Given the description of an element on the screen output the (x, y) to click on. 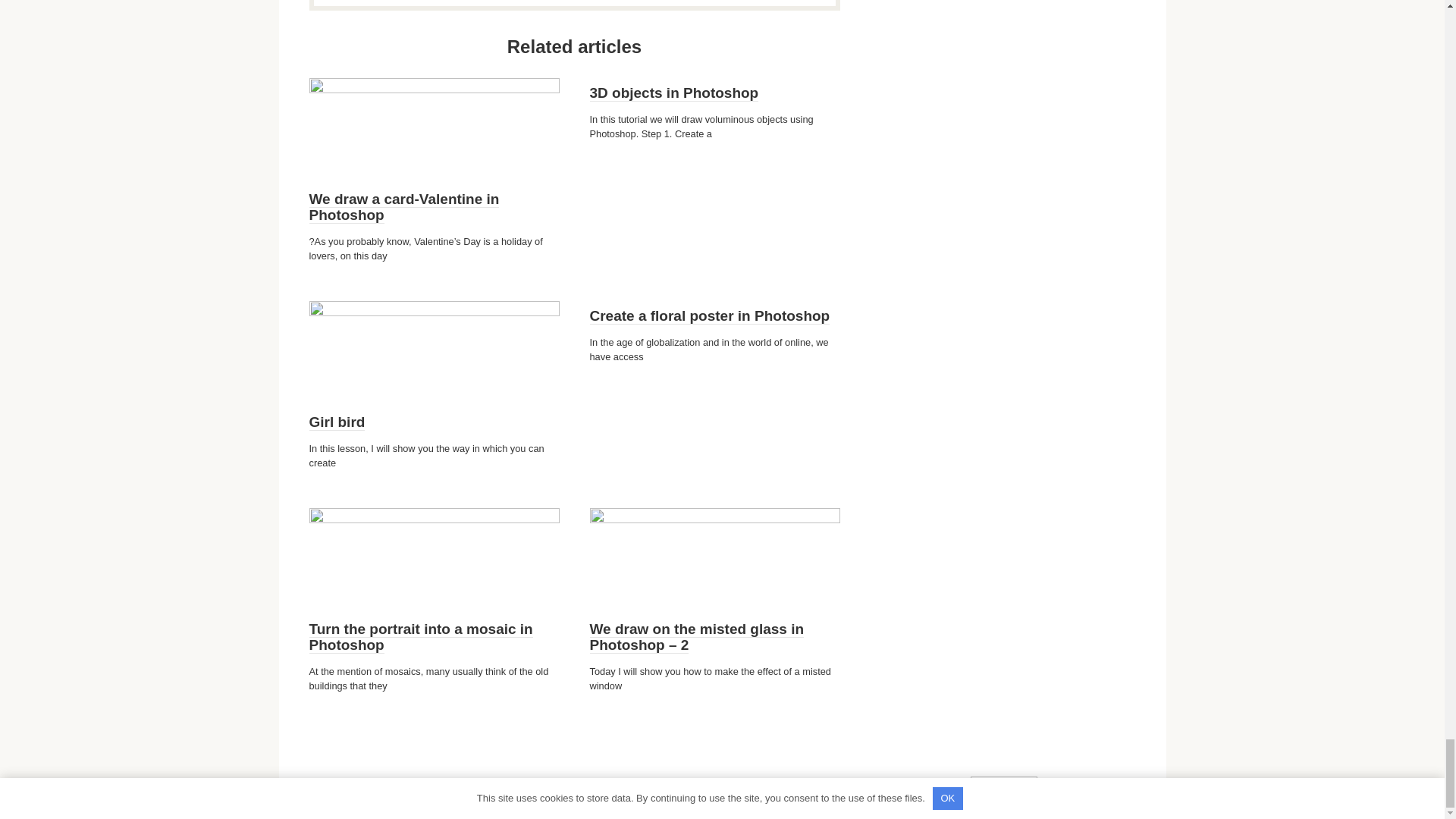
Create a floral poster in Photoshop (709, 315)
3D objects in Photoshop (673, 93)
We draw a card-Valentine in Photoshop (403, 206)
Girl bird (336, 422)
Turn the portrait into a mosaic in Photoshop (420, 636)
